Given the description of an element on the screen output the (x, y) to click on. 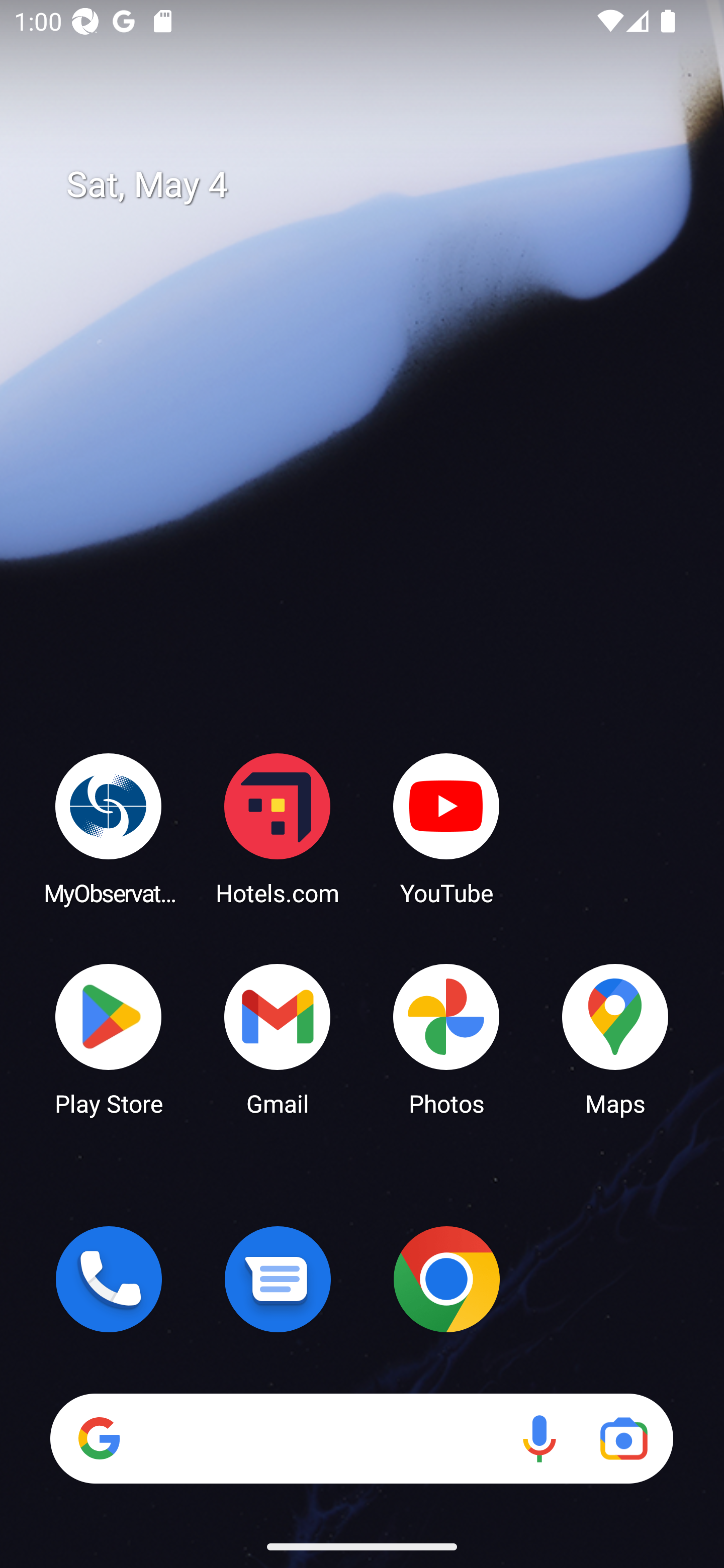
Sat, May 4 (375, 184)
MyObservatory (108, 828)
Hotels.com (277, 828)
YouTube (445, 828)
Play Store (108, 1038)
Gmail (277, 1038)
Photos (445, 1038)
Maps (615, 1038)
Phone (108, 1279)
Messages (277, 1279)
Chrome (446, 1279)
Search Voice search Google Lens (361, 1438)
Voice search (539, 1438)
Google Lens (623, 1438)
